Given the description of an element on the screen output the (x, y) to click on. 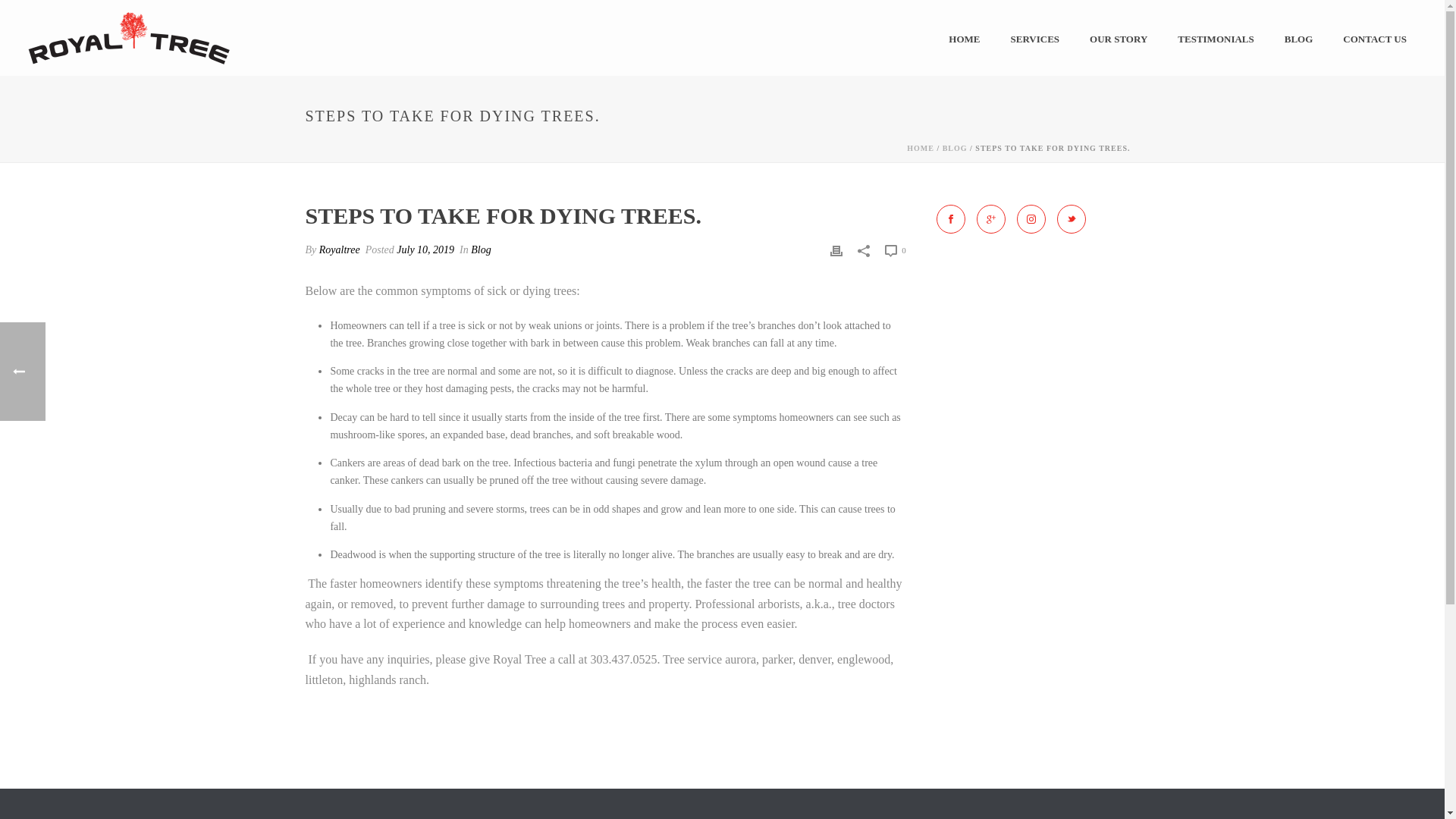
SERVICES (1034, 38)
Follow Us on googleplus (991, 218)
0 (895, 249)
OUR STORY (1117, 38)
BLOG (955, 148)
Print (836, 249)
HOME (963, 38)
Royaltree (338, 249)
SERVICES (1034, 38)
Follow Us on twitter (1071, 218)
HOME (920, 148)
Follow Us on facebook (950, 218)
TESTIMONIALS (1214, 38)
Follow Us on instagram (1030, 218)
BLOG (1298, 38)
